Given the description of an element on the screen output the (x, y) to click on. 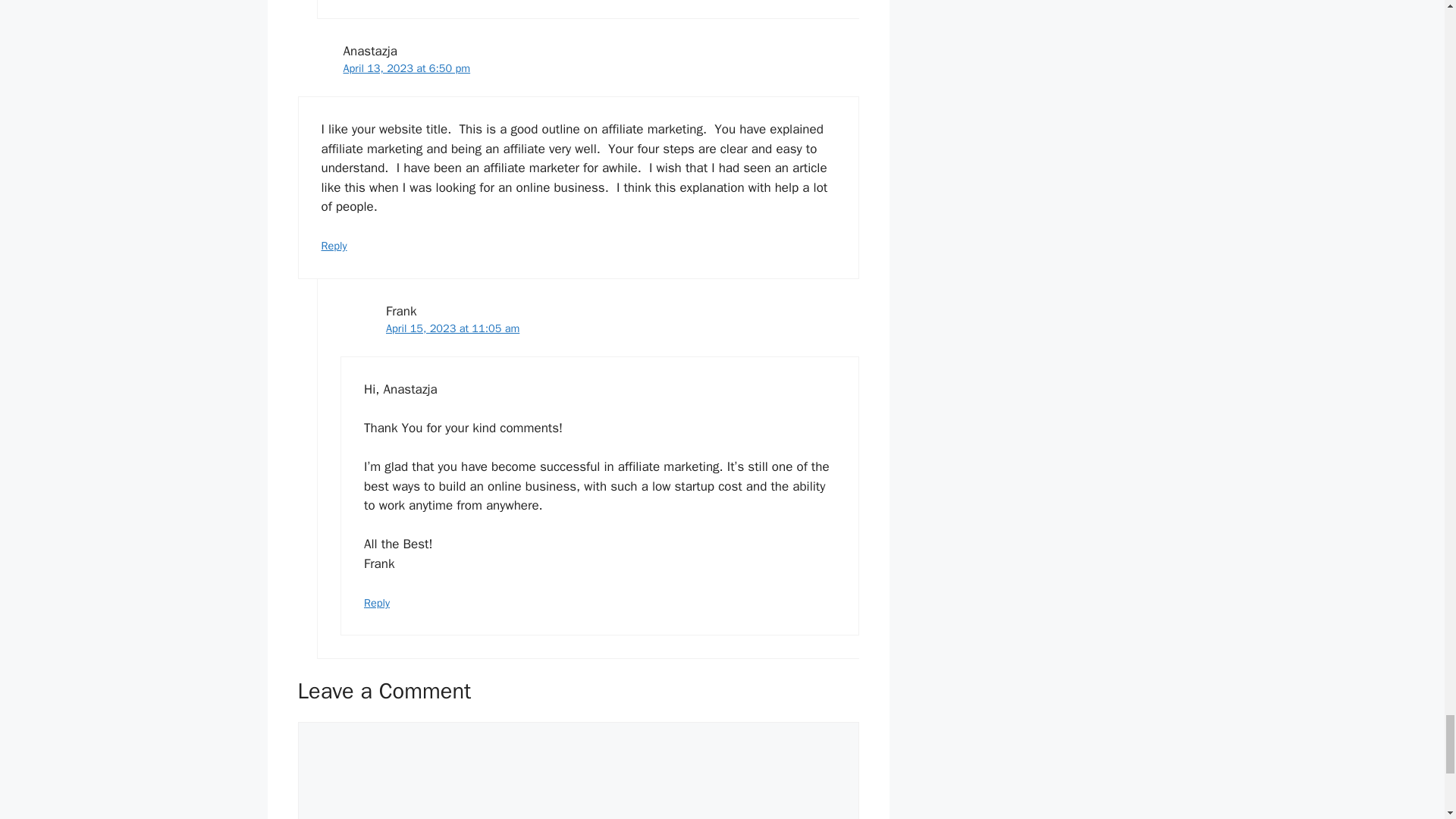
April 13, 2023 at 6:50 pm (406, 68)
Reply (334, 245)
